Given the description of an element on the screen output the (x, y) to click on. 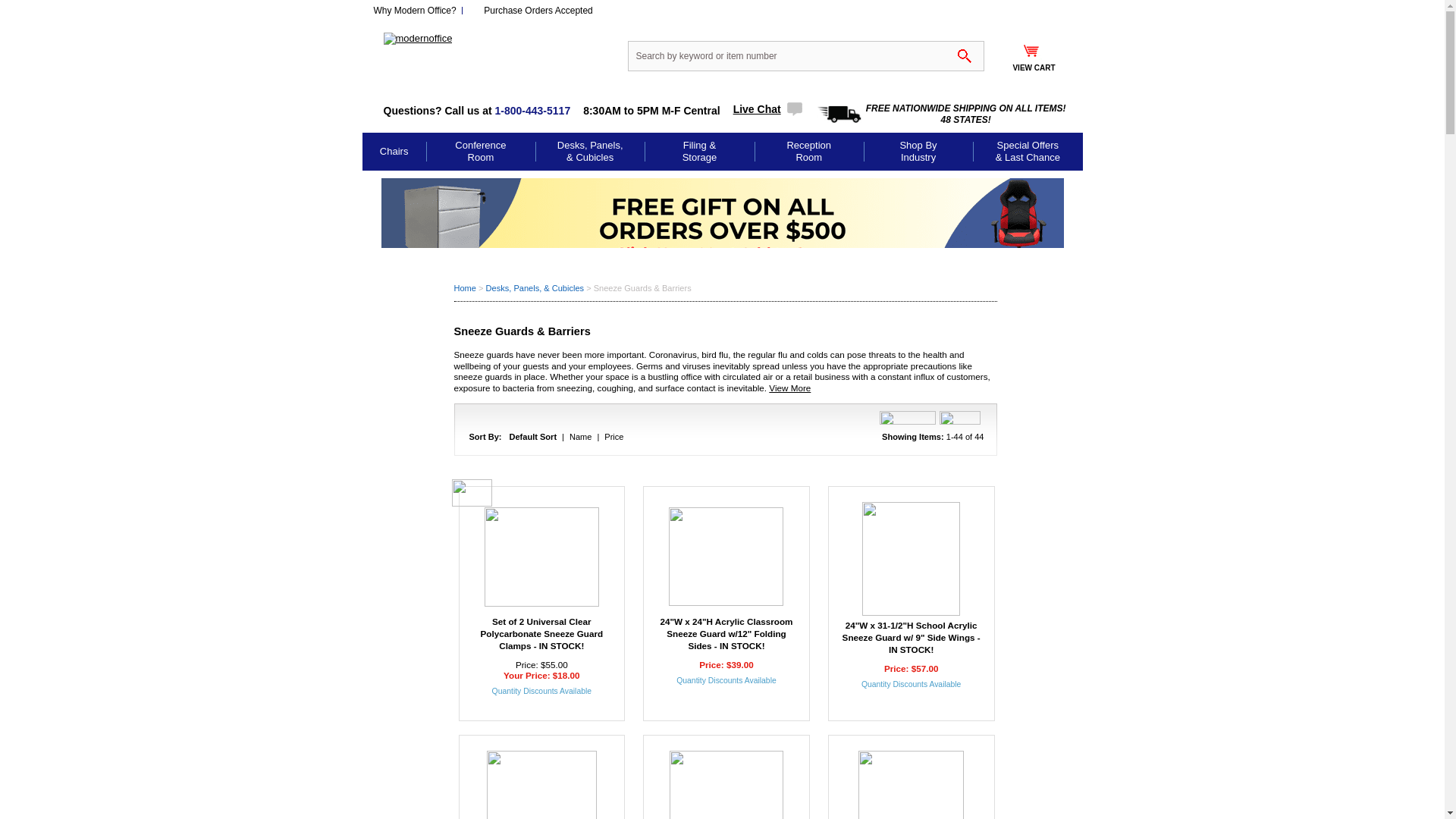
Why Modern Office? (413, 9)
VIEW CART (1033, 61)
Search by keyword or item number (805, 55)
Search by keyword or item number (805, 55)
Purchase Orders Accepted (537, 9)
Live Chat (768, 109)
Chairs (394, 151)
Conference Room (480, 151)
